Given the description of an element on the screen output the (x, y) to click on. 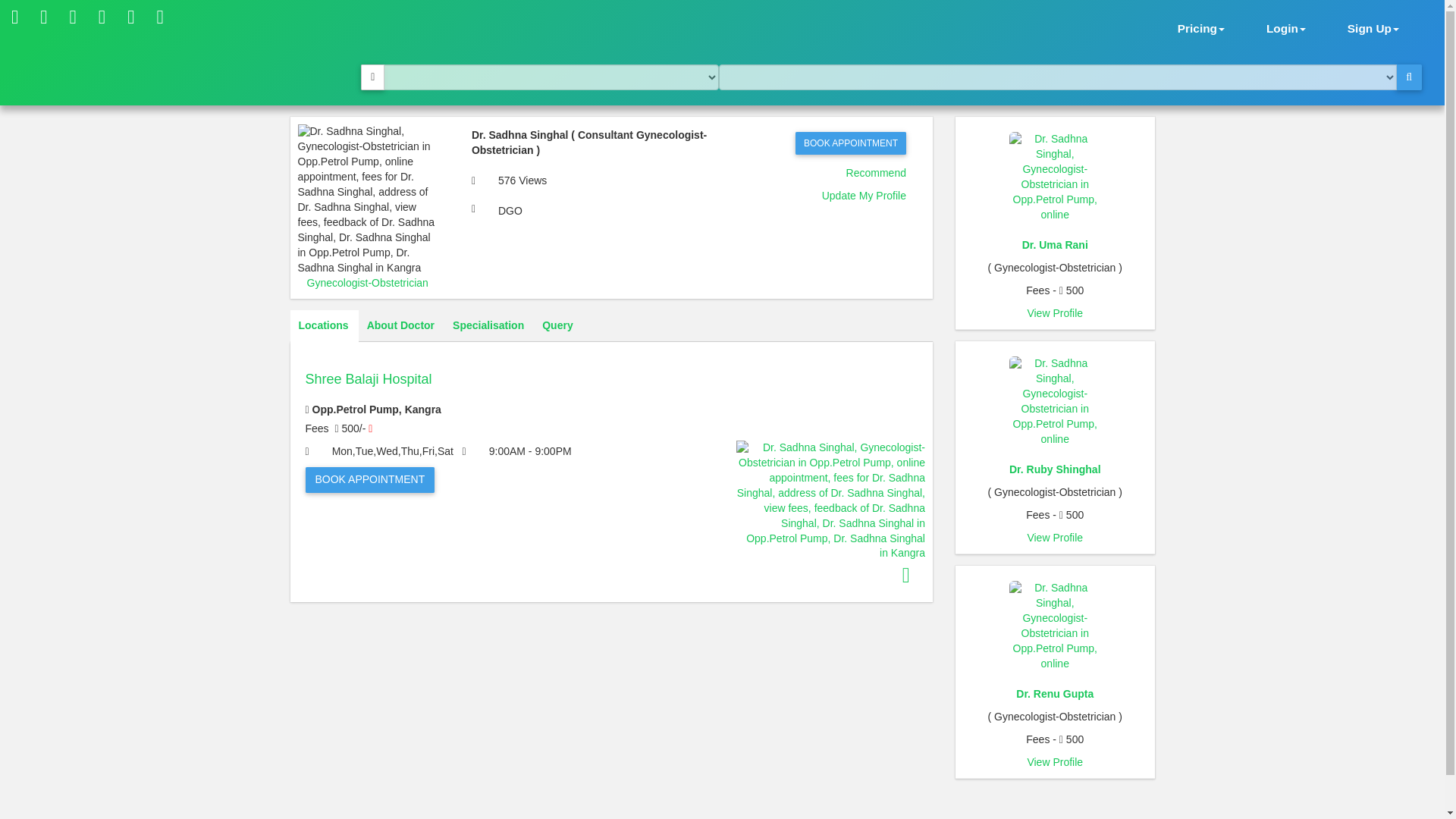
View Clinic Images (906, 575)
Locations (322, 326)
Gynecologist-Obstetrician (367, 282)
Recommend (875, 173)
Google Play Store (101, 20)
About Doctor (400, 326)
App Store (73, 20)
BOOK APPOINTMENT (368, 479)
Pricing (1200, 28)
Current Location (372, 77)
Sign Up (1372, 28)
Blood Bank (159, 20)
Query (557, 326)
Shree Balaji Hospital (610, 393)
Update My Profile (863, 195)
